Given the description of an element on the screen output the (x, y) to click on. 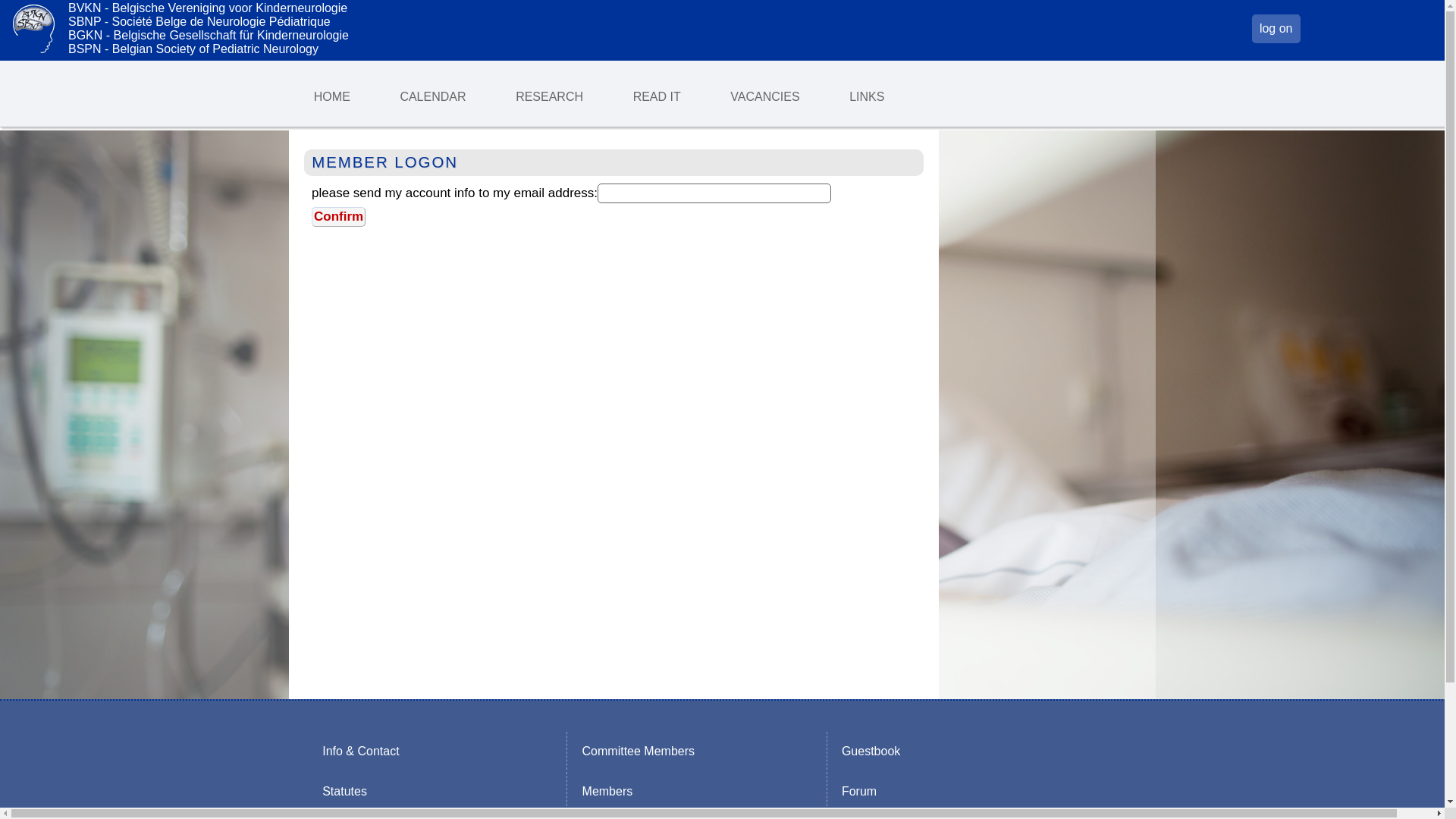
confirm Element type: text (338, 216)
log on Element type: text (1276, 28)
Info & Contact Element type: text (360, 750)
VACANCIES Element type: text (765, 94)
Members Element type: text (606, 790)
RESEARCH Element type: text (549, 94)
Statutes Element type: text (344, 790)
Guestbook Element type: text (871, 750)
READ IT Element type: text (656, 94)
LINKS Element type: text (866, 94)
Forum Element type: text (859, 790)
CALENDAR Element type: text (433, 94)
HOME Element type: text (332, 94)
Committee Members Element type: text (637, 750)
